Given the description of an element on the screen output the (x, y) to click on. 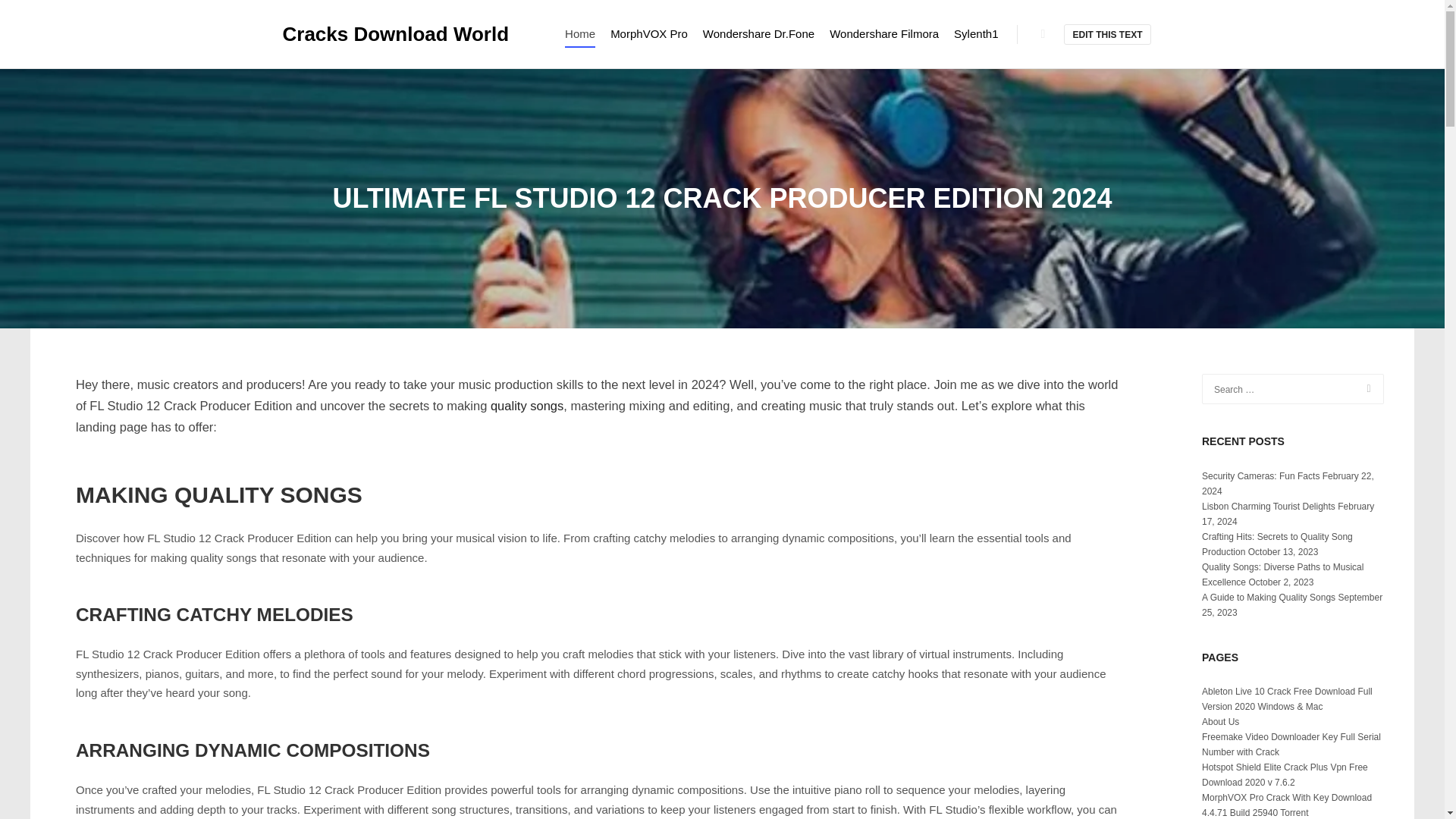
Security Cameras: Fun Facts (1260, 475)
EDIT THIS TEXT (1107, 34)
Search (1043, 34)
Quality Songs: Diverse Paths to Musical Excellence (1282, 574)
Crafting Hits: Secrets to Quality Song Production (1277, 544)
Search (1361, 388)
Freemake Video Downloader Key Full Serial Number with Crack (1291, 744)
Search (1043, 34)
A Guide to Making Quality Songs (1268, 597)
Wondershare Filmora (884, 33)
